Given the description of an element on the screen output the (x, y) to click on. 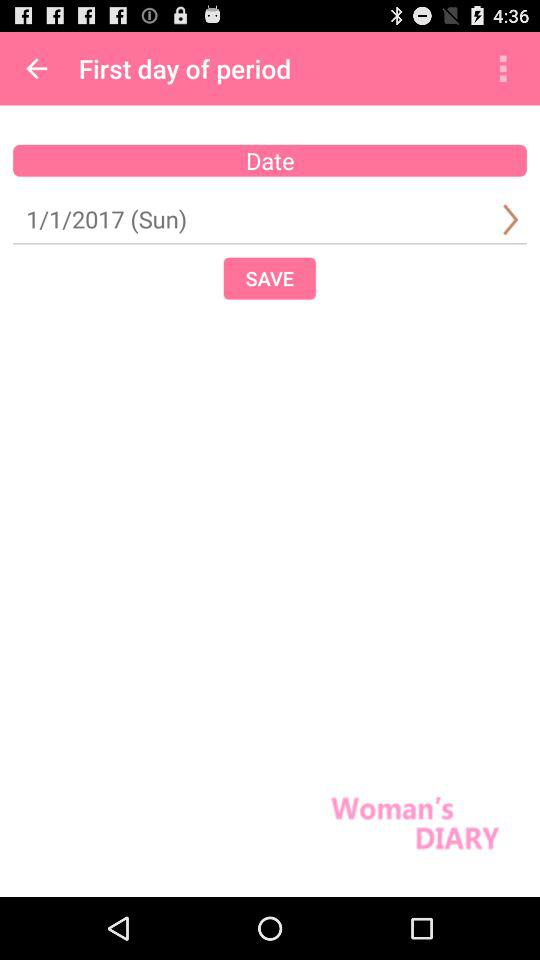
press item above date item (503, 67)
